Given the description of an element on the screen output the (x, y) to click on. 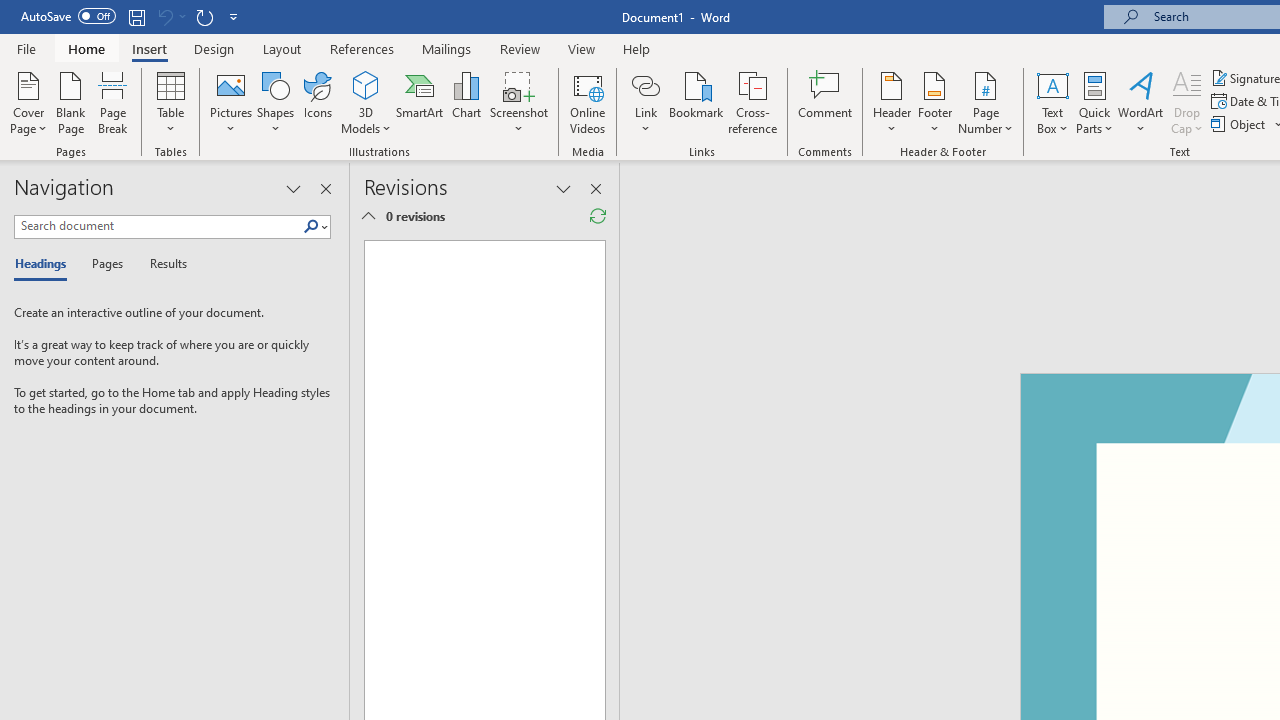
Page Break (113, 102)
Icons (317, 102)
Link (645, 84)
Object... (1240, 124)
Refresh Reviewing Pane (597, 215)
Cross-reference... (752, 102)
Footer (934, 102)
Text Box (1052, 102)
Header (891, 102)
Online Videos... (588, 102)
Shapes (275, 102)
Link (645, 102)
